Given the description of an element on the screen output the (x, y) to click on. 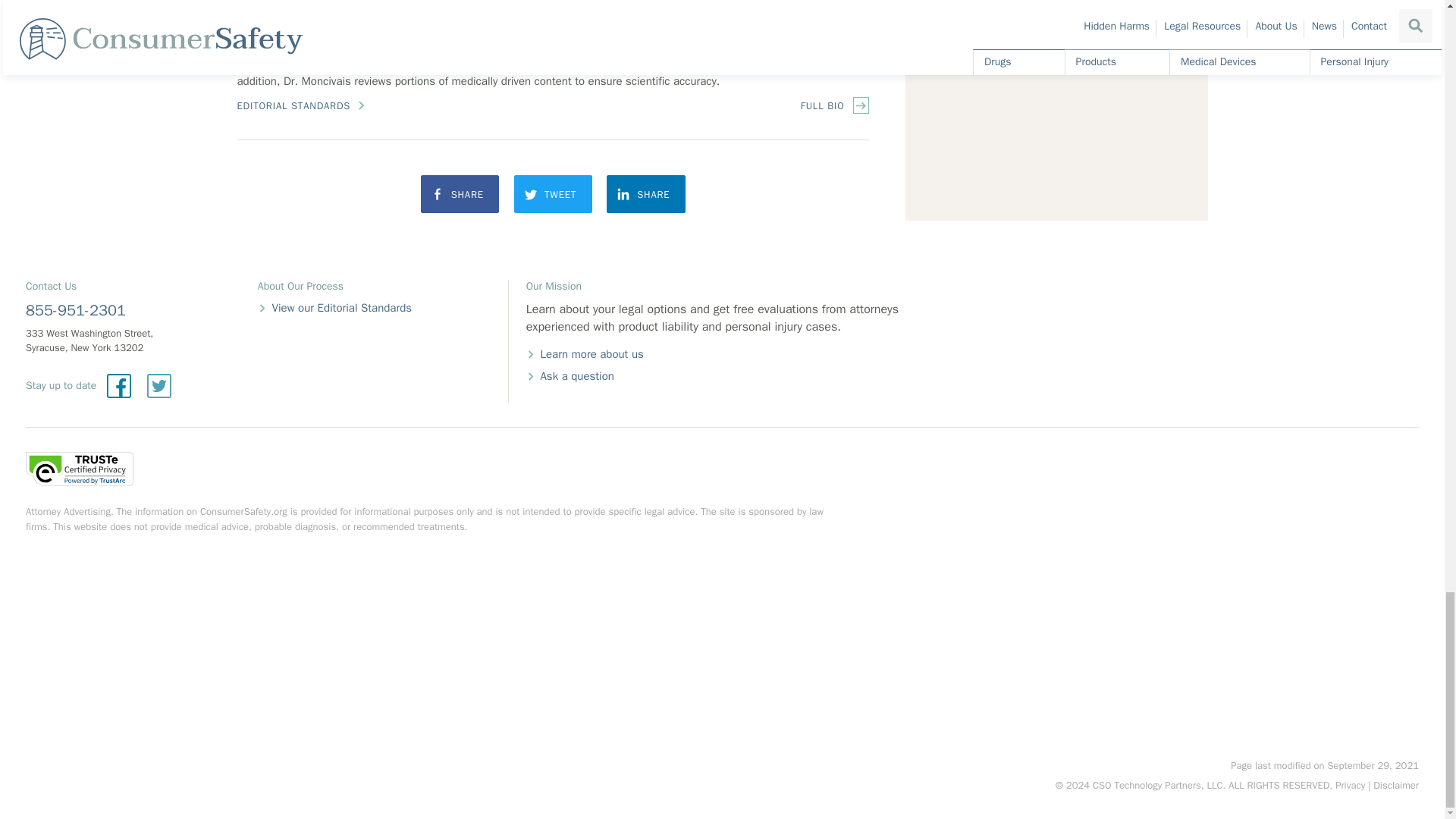
Share this on Twitter (552, 193)
Share this on LinkedIn (646, 193)
Share this on Facebook (459, 193)
